Given the description of an element on the screen output the (x, y) to click on. 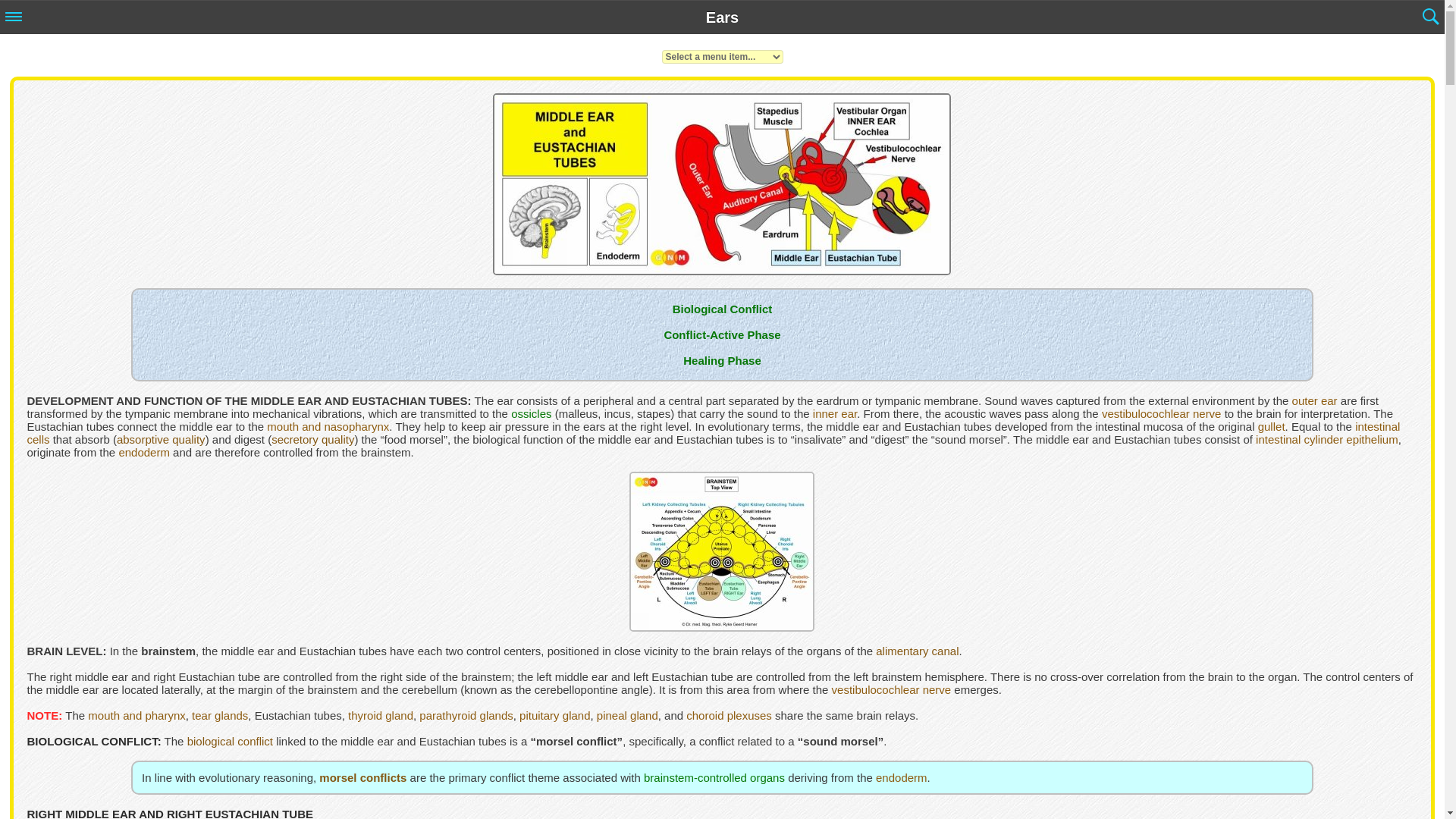
brainstem-controlled organs (713, 777)
vestibulocochlear nerve (1161, 413)
::Tap to enlarge this image (720, 625)
thyroid gland (380, 715)
Healing Phase (721, 359)
secretory quality (311, 439)
Biological Conflict (722, 308)
mouth and pharynx (135, 715)
pineal gland (627, 715)
alimentary canal (917, 650)
Conflict-Active Phase (721, 334)
biological conflict (230, 740)
vestibulocochlear nerve (891, 689)
ossicles (531, 413)
endoderm (143, 451)
